Given the description of an element on the screen output the (x, y) to click on. 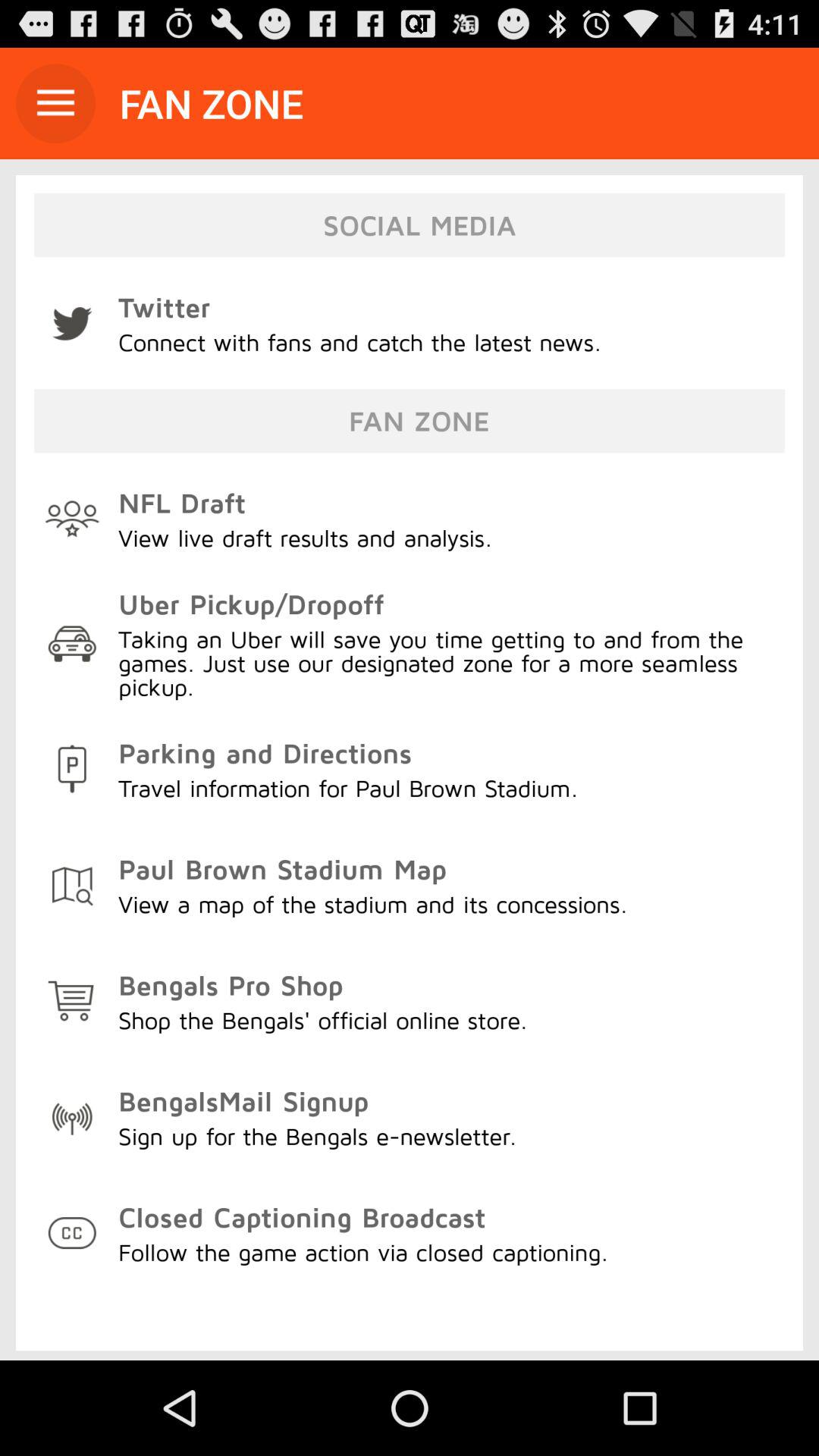
go to favorite (55, 103)
